Given the description of an element on the screen output the (x, y) to click on. 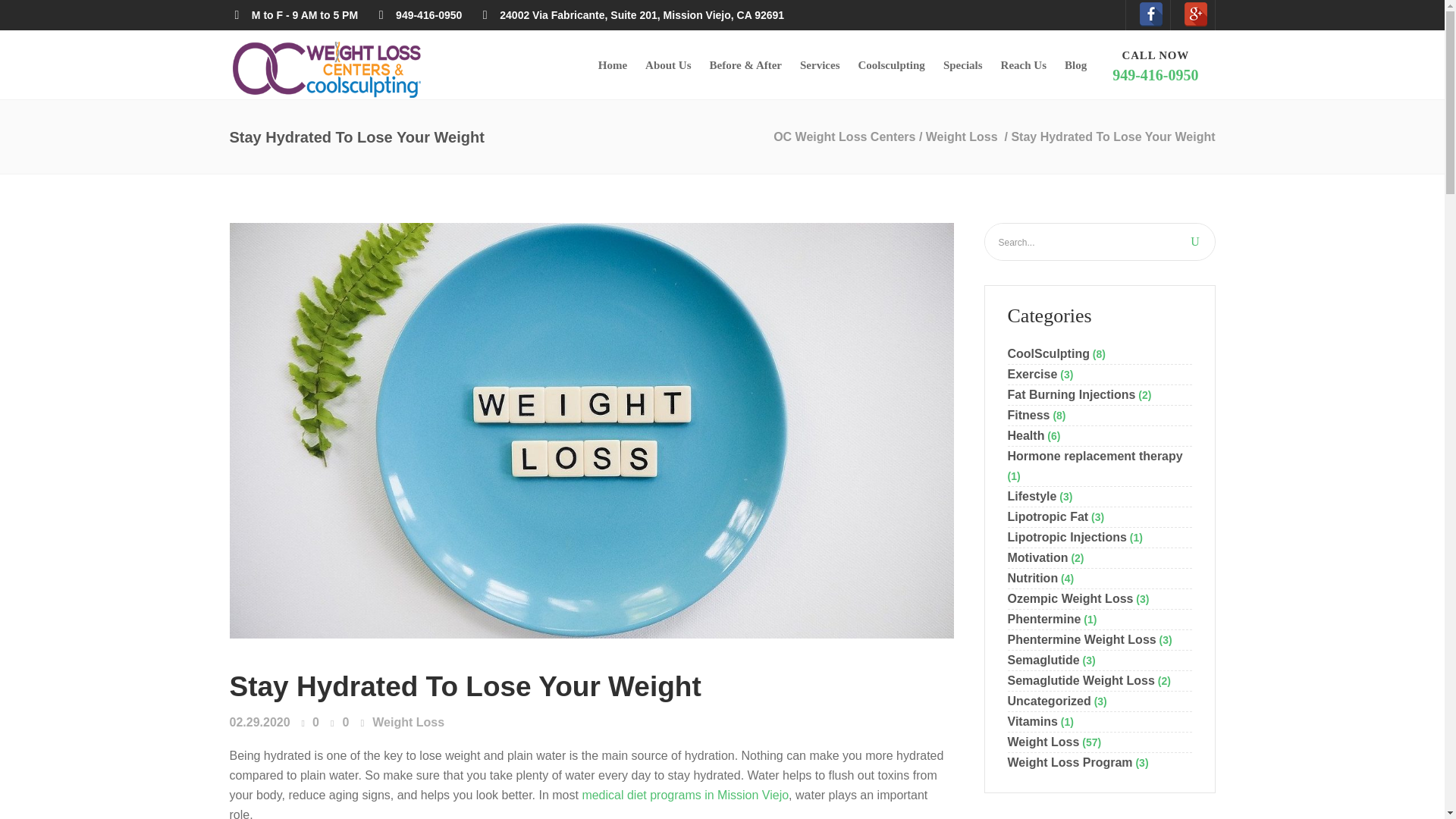
24002 Via Fabricante, Suite 201, Mission Viejo, CA 92691 (632, 14)
Stay Hydrated To Lose Your Weight (1155, 64)
U (464, 685)
OC Weight Loss Centers (1194, 241)
OC Weight Loss Centers (326, 12)
Like this (326, 69)
Coolsculpting (309, 723)
About Us (891, 64)
Weight Loss (668, 64)
